Given the description of an element on the screen output the (x, y) to click on. 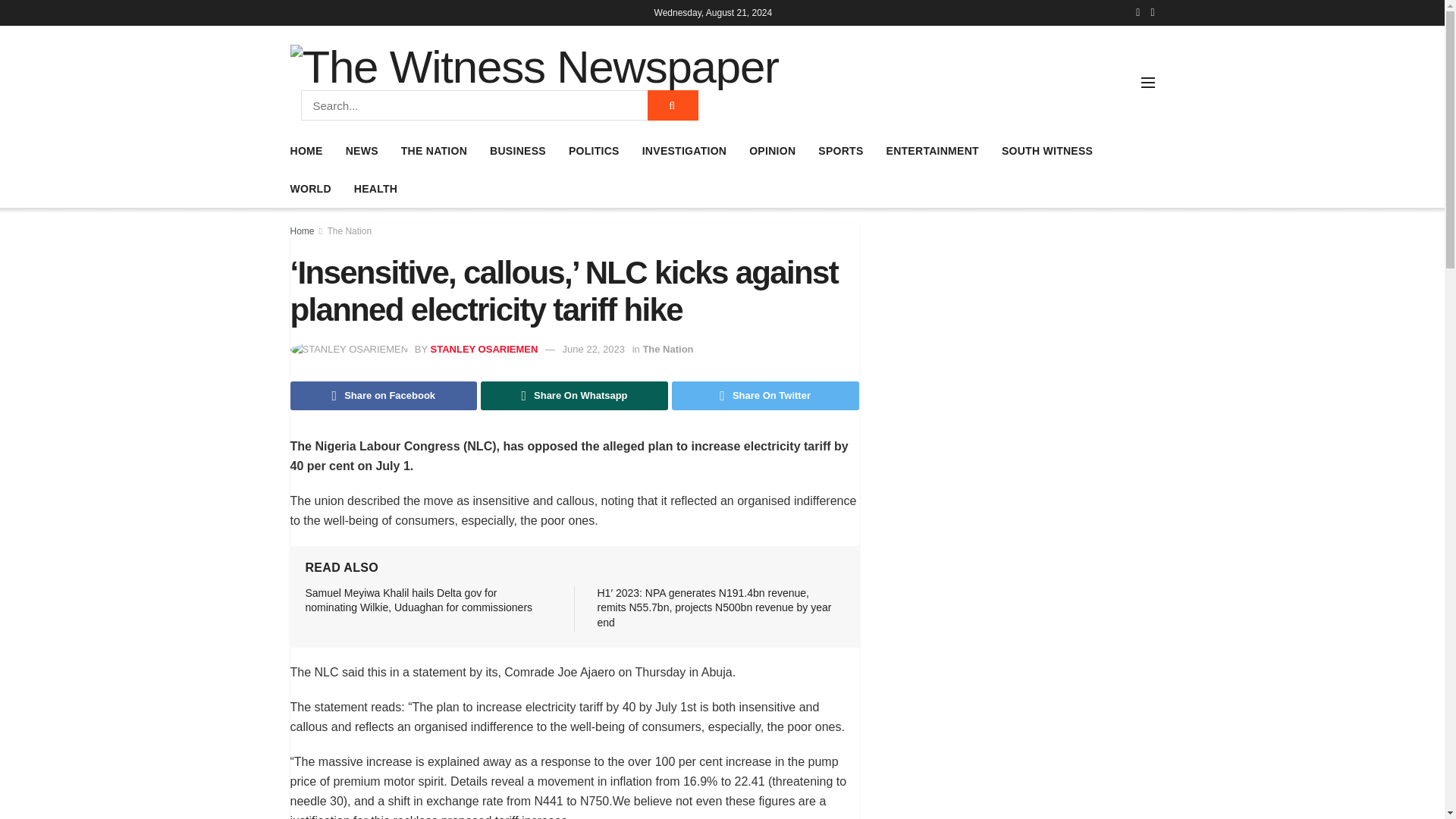
POLITICS (594, 150)
SOUTH WITNESS (1047, 150)
The Nation (667, 348)
THE NATION (434, 150)
The Nation (348, 231)
HEALTH (375, 188)
June 22, 2023 (593, 348)
HOME (305, 150)
Share on Facebook (383, 395)
